Given the description of an element on the screen output the (x, y) to click on. 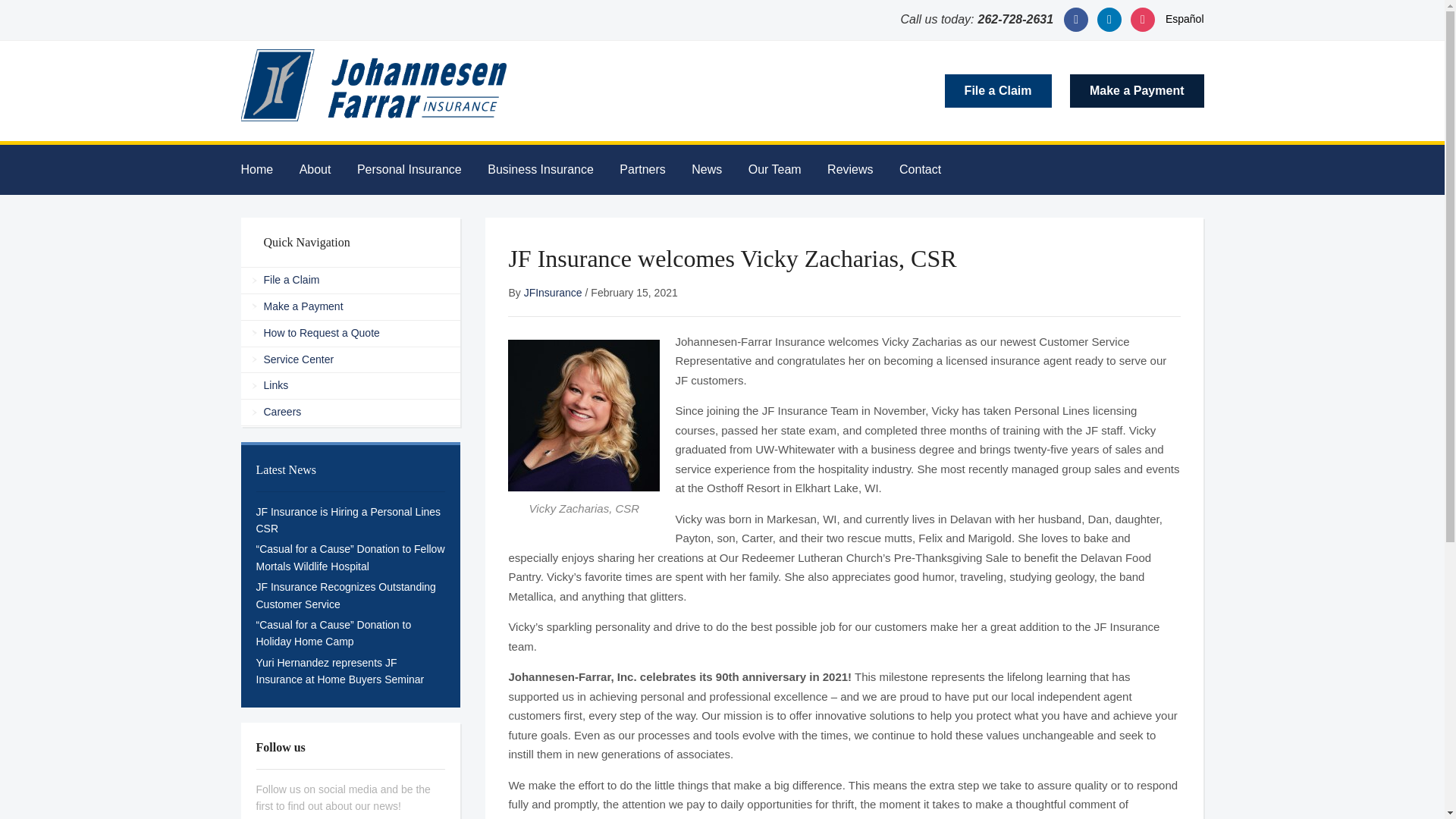
About (326, 169)
Facebook (1075, 19)
Make a Payment (1137, 90)
Posts by JFInsurance (553, 292)
Home (269, 169)
File a Claim (997, 90)
instagram (1142, 19)
facebook (1075, 19)
Personal Insurance (420, 169)
Default Label (1109, 19)
